Given the description of an element on the screen output the (x, y) to click on. 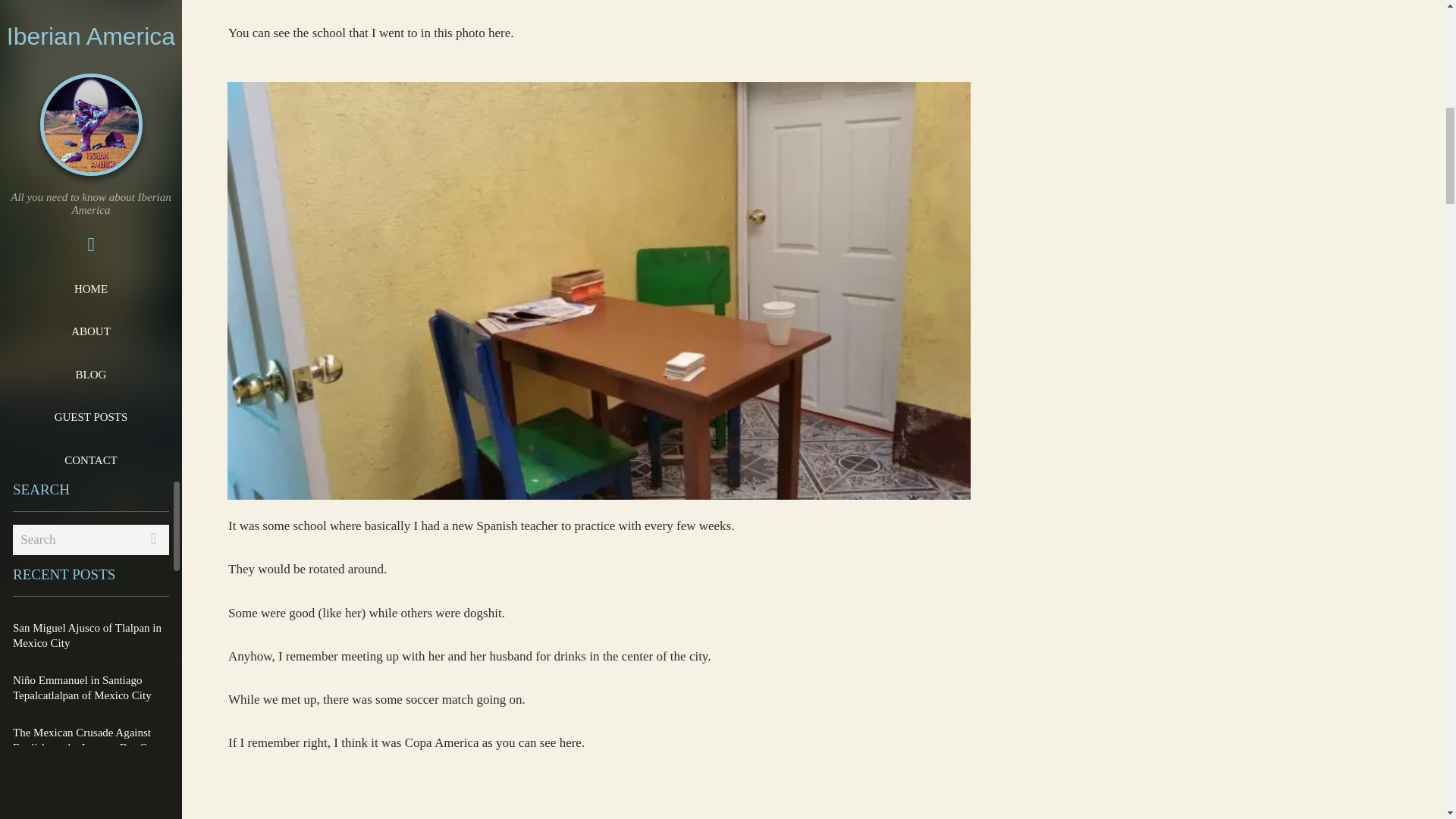
The Loud Music of Latin America (89, 241)
Guaranteed Method to Double Your Property Value in Mexico (82, 126)
Responsive Video (598, 805)
Why Do Latin Americans Not Wear Shorts? (90, 187)
How to Purchase TRT in Mexico City (85, 295)
3 Years of Iberian America (90, 17)
